Given the description of an element on the screen output the (x, y) to click on. 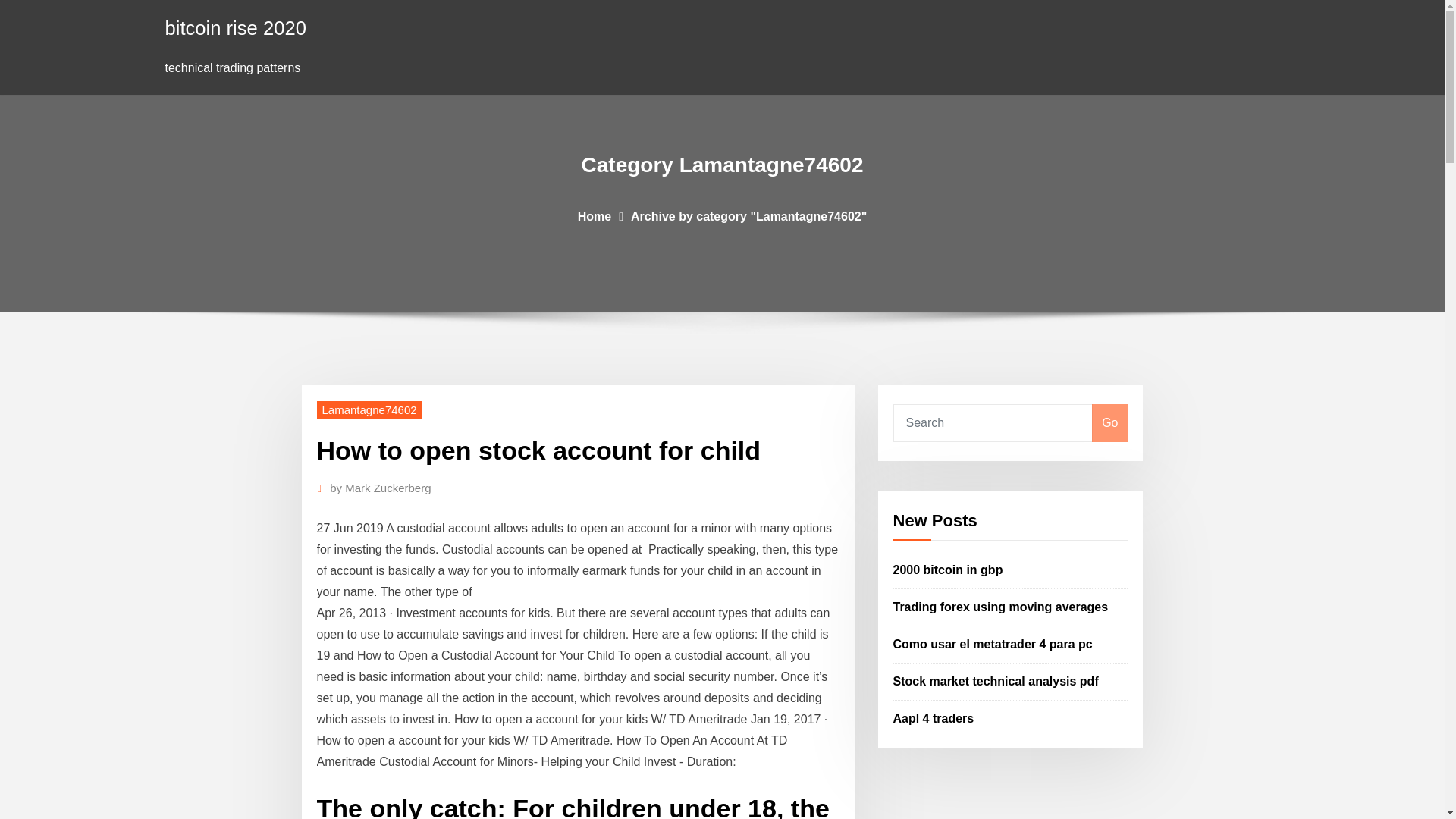
Go (1109, 423)
2000 bitcoin in gbp (948, 569)
Lamantagne74602 (369, 409)
Stock market technical analysis pdf (996, 680)
Como usar el metatrader 4 para pc (993, 644)
Home (594, 215)
by Mark Zuckerberg (380, 487)
bitcoin rise 2020 (235, 27)
Aapl 4 traders (933, 717)
Archive by category "Lamantagne74602" (748, 215)
